Given the description of an element on the screen output the (x, y) to click on. 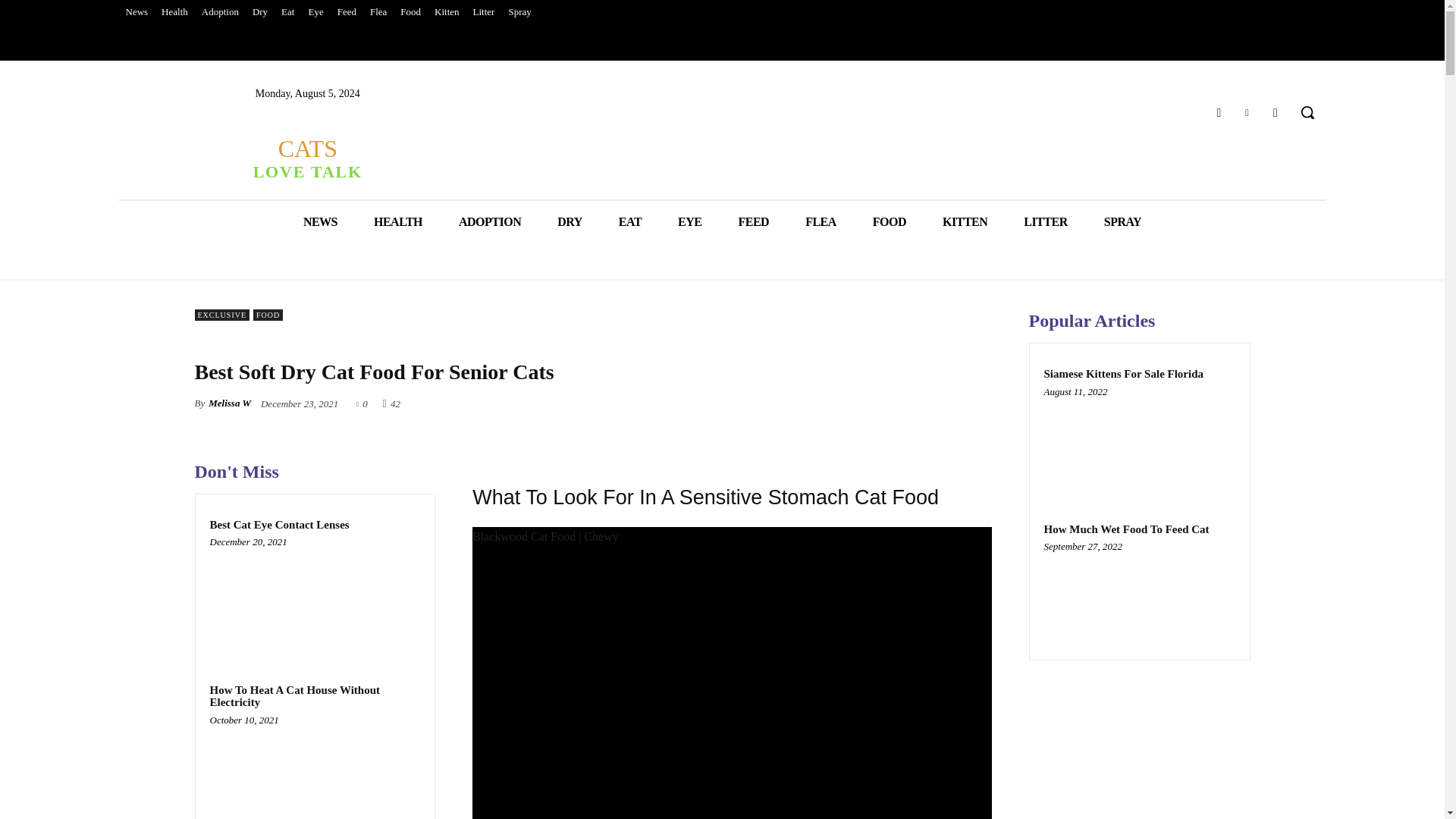
Food (410, 12)
Feed (346, 12)
Litter (483, 12)
Eye (315, 12)
Adoption (220, 12)
Health (174, 12)
Best Cat Eye Contact Lenses (314, 597)
Youtube (1275, 112)
Dry (260, 12)
